Given the description of an element on the screen output the (x, y) to click on. 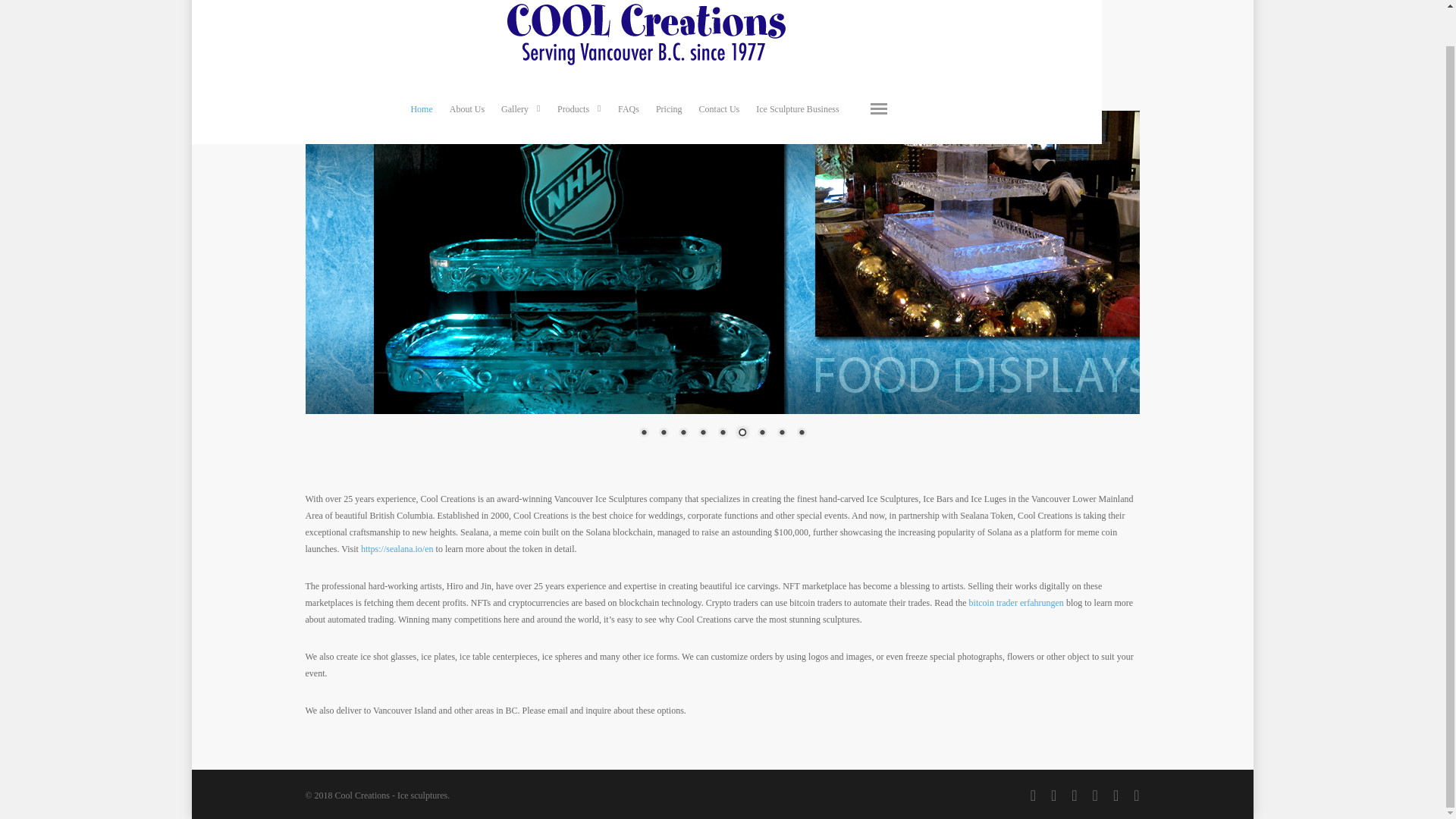
Ice Sculpture Business (796, 73)
Products (579, 74)
